Given the description of an element on the screen output the (x, y) to click on. 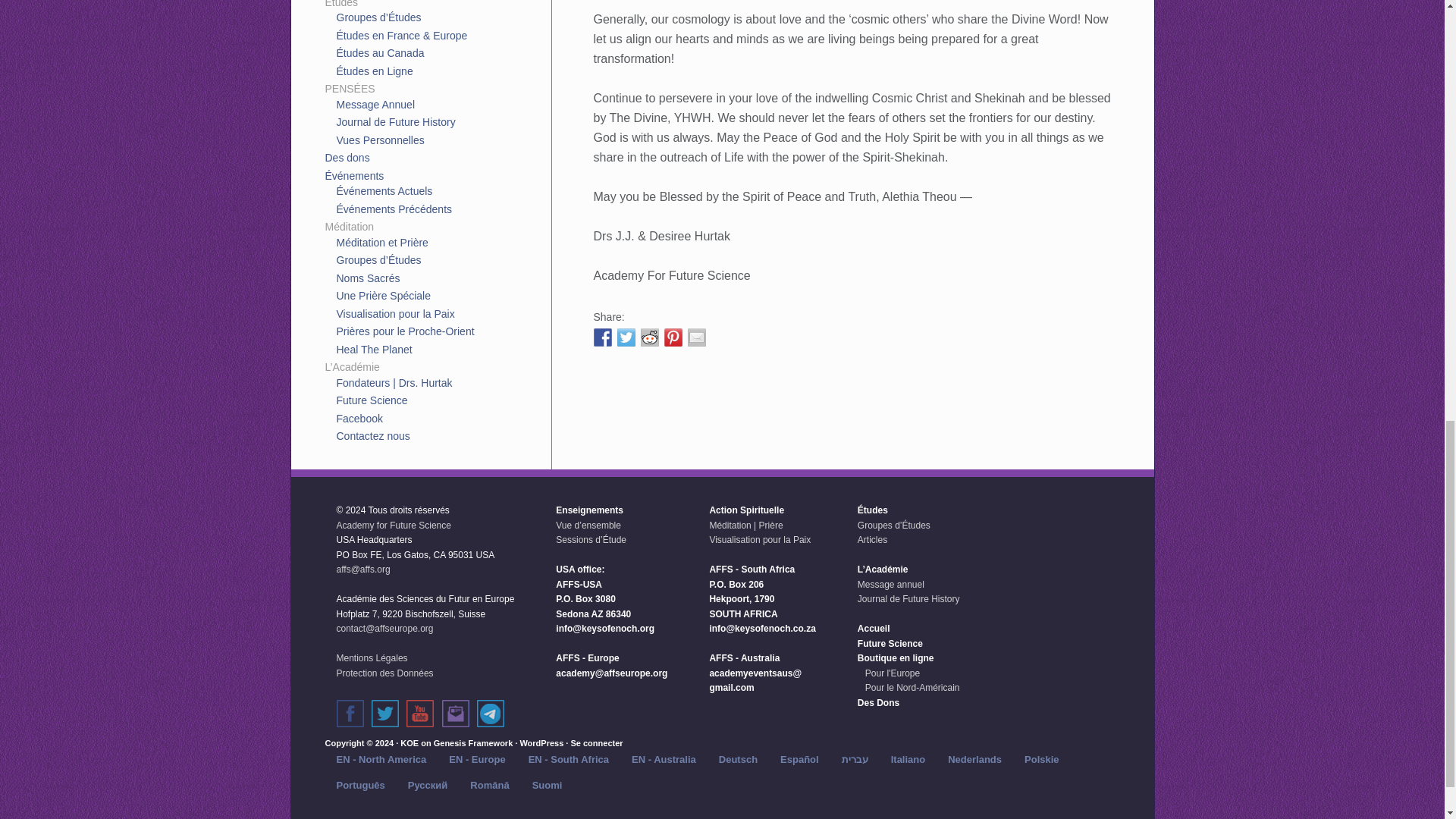
Pin it with Pinterest (672, 337)
Share on Twitter (625, 337)
Share by email (695, 337)
Share on Facebook (601, 337)
Share on Reddit (649, 337)
